Given the description of an element on the screen output the (x, y) to click on. 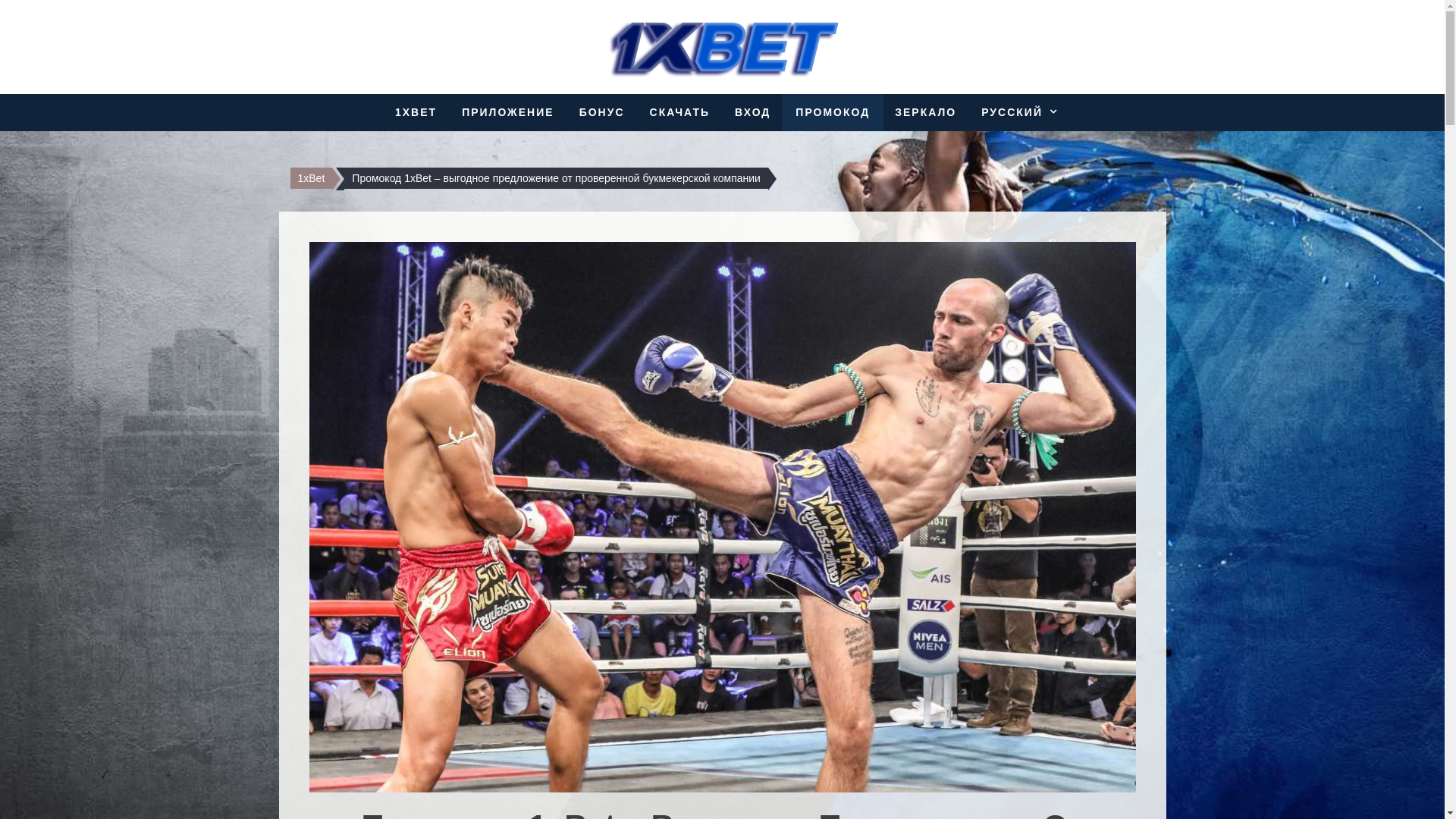
Skip to content Element type: text (35, 9)
1XBET Element type: text (415, 112)
1xBet Element type: text (310, 177)
